Given the description of an element on the screen output the (x, y) to click on. 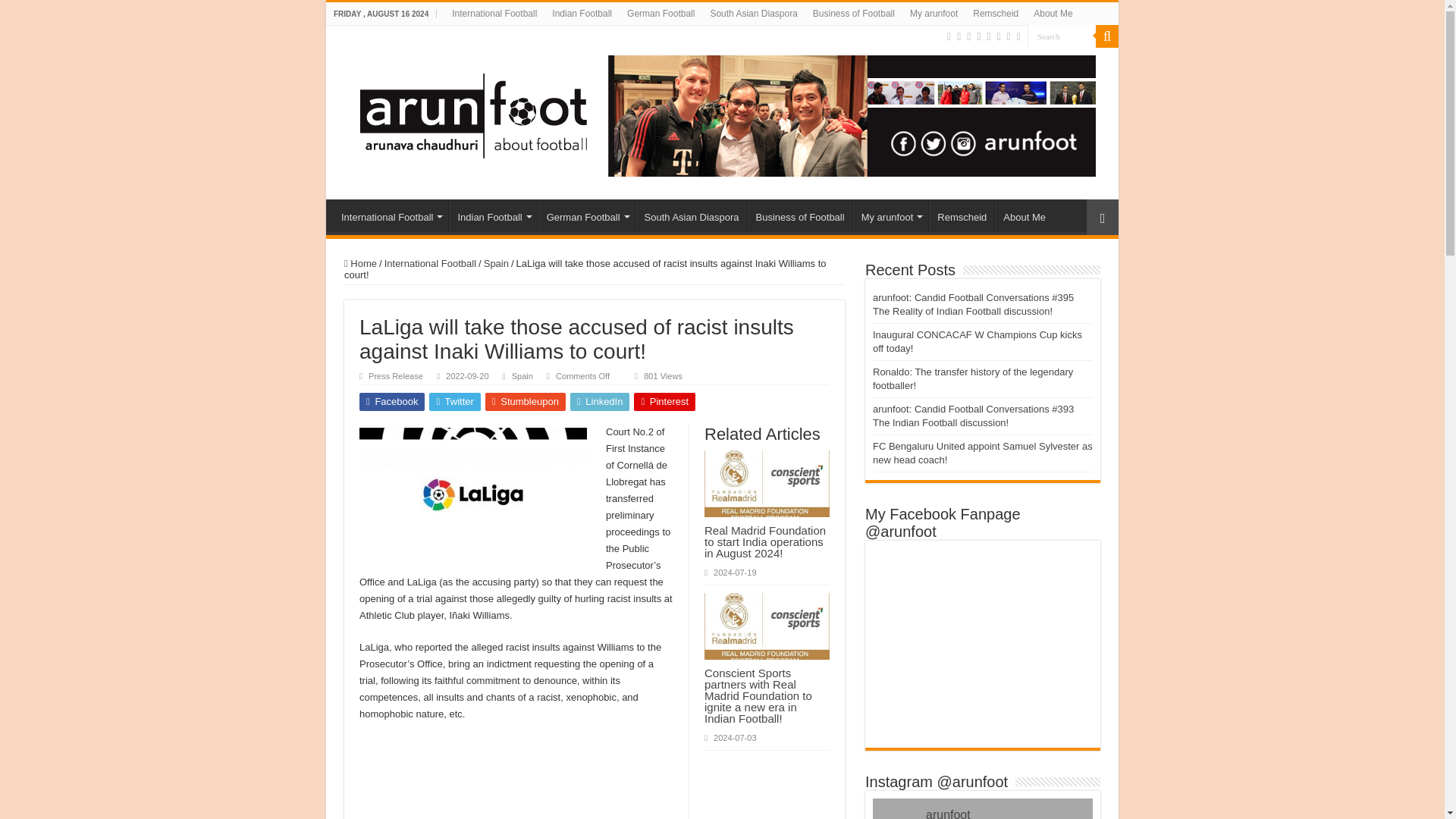
German Football (660, 13)
Search (1061, 35)
Business of Football (853, 13)
Search (1107, 36)
Search (1061, 35)
Search (1061, 35)
About Me (1053, 13)
South Asian Diaspora (753, 13)
Indian Football (582, 13)
My arunfoot (933, 13)
